Given the description of an element on the screen output the (x, y) to click on. 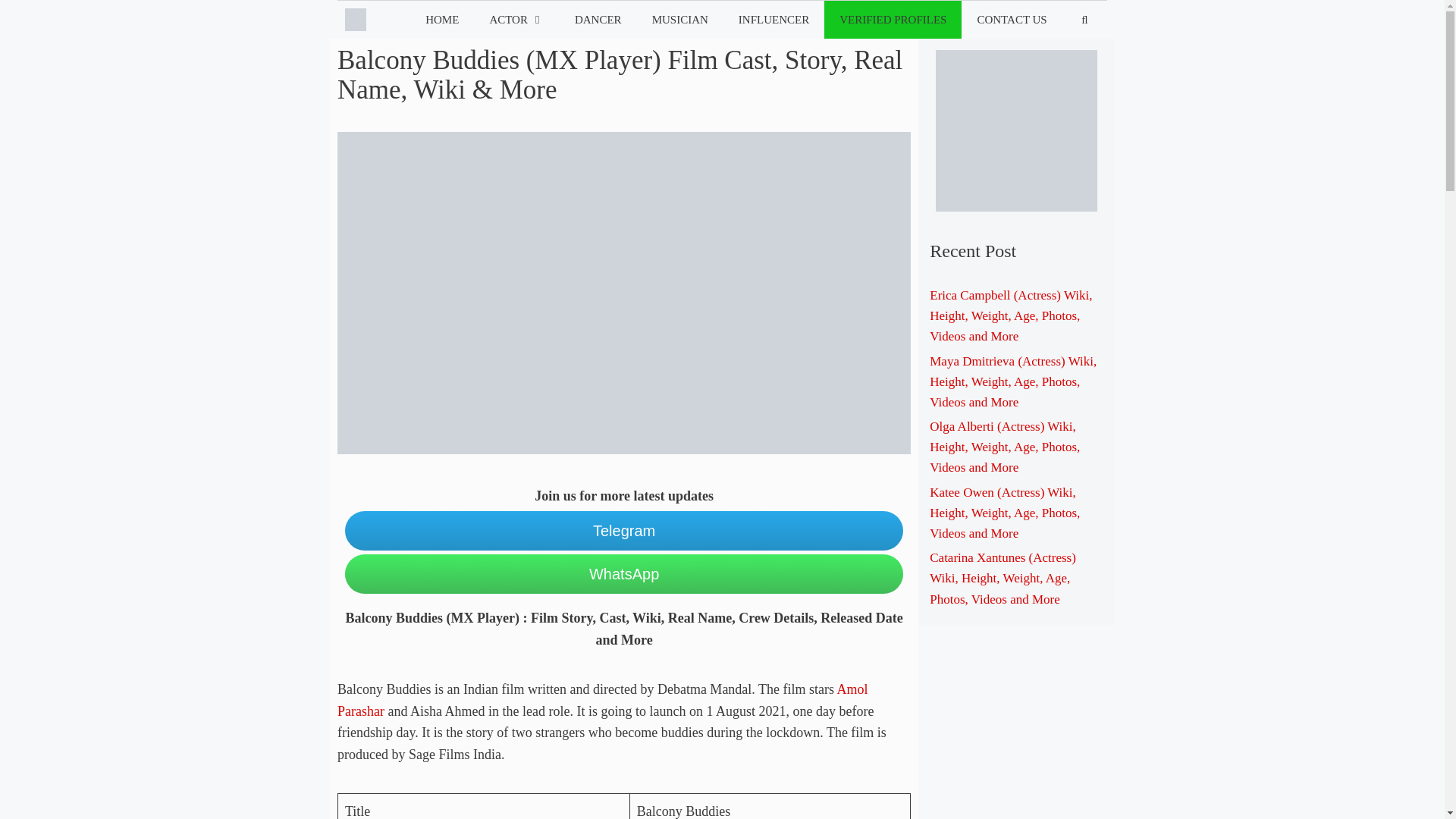
CONTACT US (1010, 19)
The Wiki (355, 19)
Amol Parashar (602, 700)
The Wiki (359, 19)
HOME (442, 19)
Search (37, 16)
DANCER (598, 19)
MUSICIAN (680, 19)
INFLUENCER (773, 19)
ACTOR (516, 19)
VERIFIED PROFILES (892, 19)
